Given the description of an element on the screen output the (x, y) to click on. 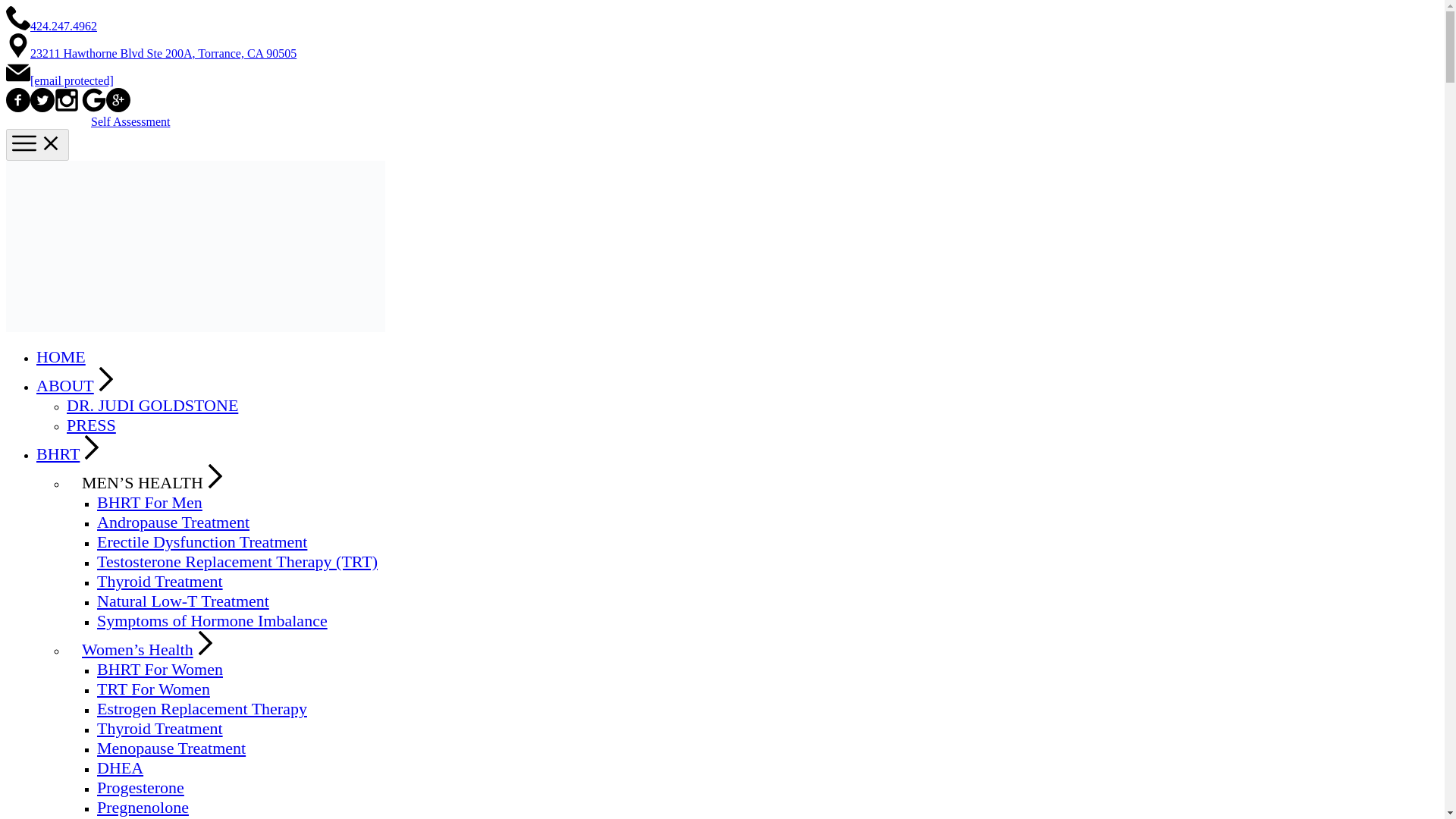
BHRT For Women (159, 669)
DHEA (119, 767)
DR. JUDI GOLDSTONE (152, 404)
ABOUT (76, 384)
Progesterone (140, 787)
Self Assessment (130, 121)
Andropause Treatment (172, 521)
PRESS (91, 424)
Natural Low-T Treatment (183, 600)
BHRT For Men (149, 502)
Pregnenolone (143, 806)
HOME (60, 356)
Erectile Dysfunction Treatment (202, 541)
Thyroid Treatment (159, 580)
Menopause Treatment (171, 747)
